Given the description of an element on the screen output the (x, y) to click on. 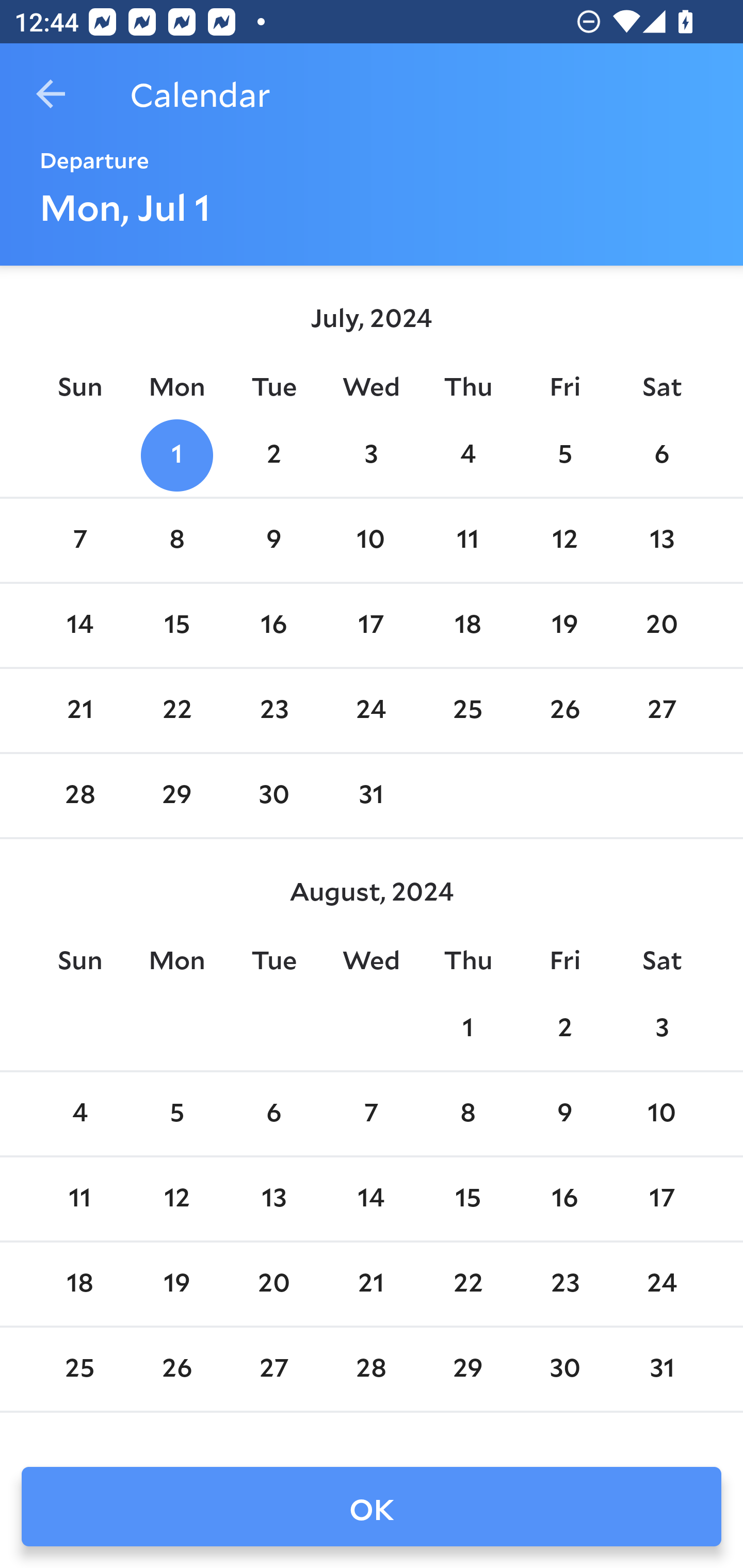
Navigate up (50, 93)
1 (177, 454)
2 (273, 454)
3 (371, 454)
4 (467, 454)
5 (565, 454)
6 (661, 454)
7 (79, 540)
8 (177, 540)
9 (273, 540)
10 (371, 540)
11 (467, 540)
12 (565, 540)
13 (661, 540)
14 (79, 625)
15 (177, 625)
16 (273, 625)
17 (371, 625)
18 (467, 625)
19 (565, 625)
20 (661, 625)
21 (79, 710)
22 (177, 710)
23 (273, 710)
24 (371, 710)
25 (467, 710)
26 (565, 710)
27 (661, 710)
28 (79, 796)
29 (177, 796)
30 (273, 796)
31 (371, 796)
1 (467, 1028)
2 (565, 1028)
3 (661, 1028)
4 (79, 1114)
5 (177, 1114)
6 (273, 1114)
7 (371, 1114)
8 (467, 1114)
9 (565, 1114)
10 (661, 1114)
11 (79, 1199)
12 (177, 1199)
13 (273, 1199)
14 (371, 1199)
15 (467, 1199)
16 (565, 1199)
17 (661, 1199)
18 (79, 1284)
19 (177, 1284)
20 (273, 1284)
21 (371, 1284)
22 (467, 1284)
23 (565, 1284)
24 (661, 1284)
25 (79, 1368)
26 (177, 1368)
27 (273, 1368)
28 (371, 1368)
29 (467, 1368)
30 (565, 1368)
31 (661, 1368)
OK (371, 1506)
